Given the description of an element on the screen output the (x, y) to click on. 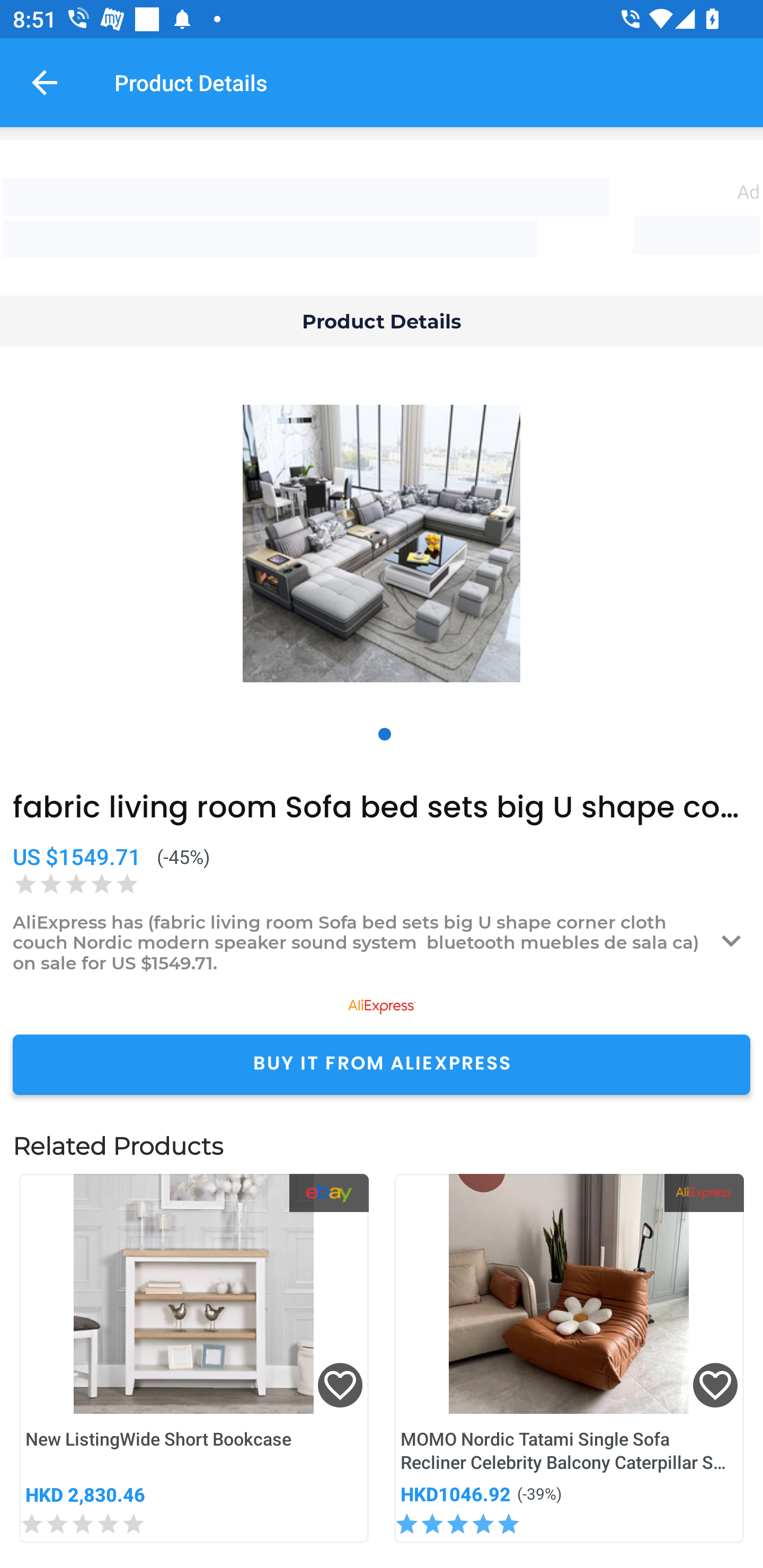
Navigate up (44, 82)
BUY IT FROM ALIEXPRESS (381, 1064)
New ListingWide Short Bookcase HKD 2,830.46 0.0 (193, 1358)
